Given the description of an element on the screen output the (x, y) to click on. 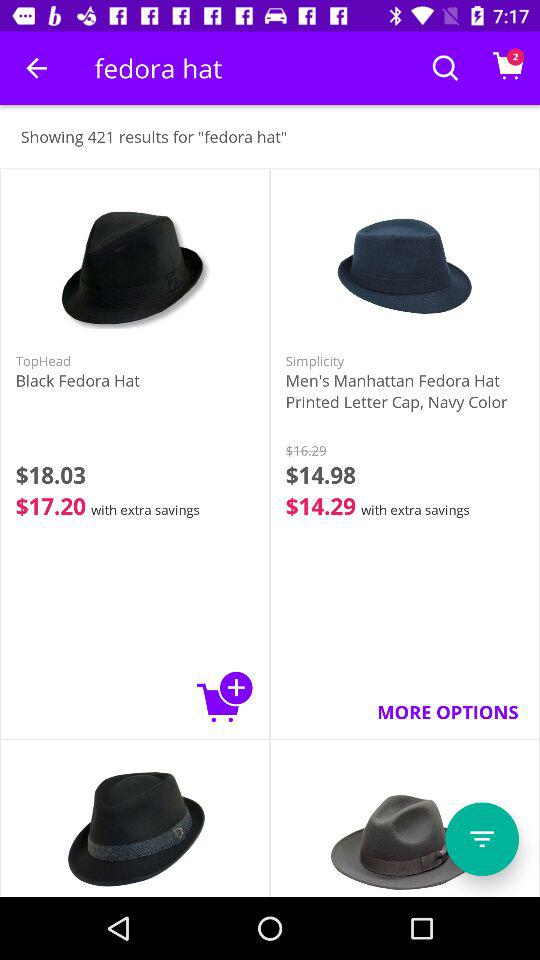
add to cart (225, 696)
